Given the description of an element on the screen output the (x, y) to click on. 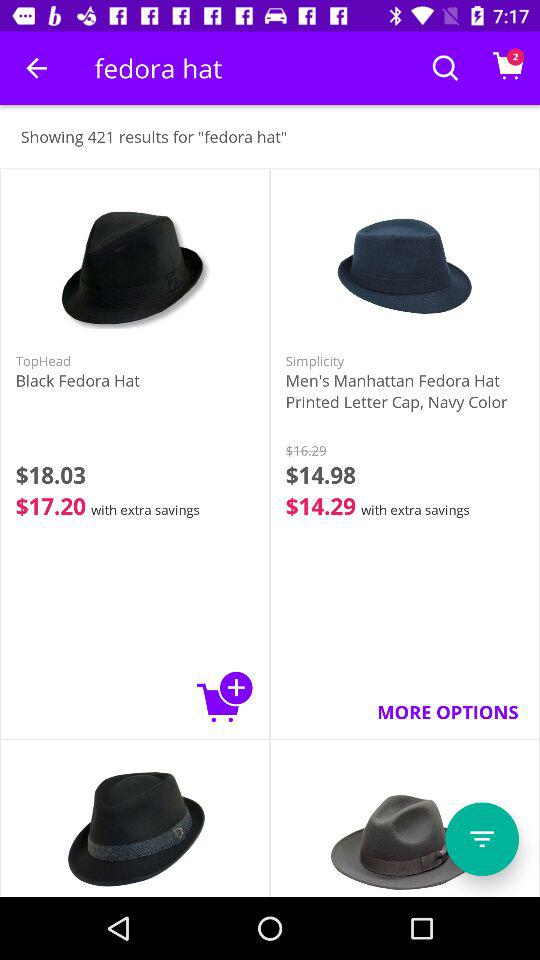
add to cart (225, 696)
